Given the description of an element on the screen output the (x, y) to click on. 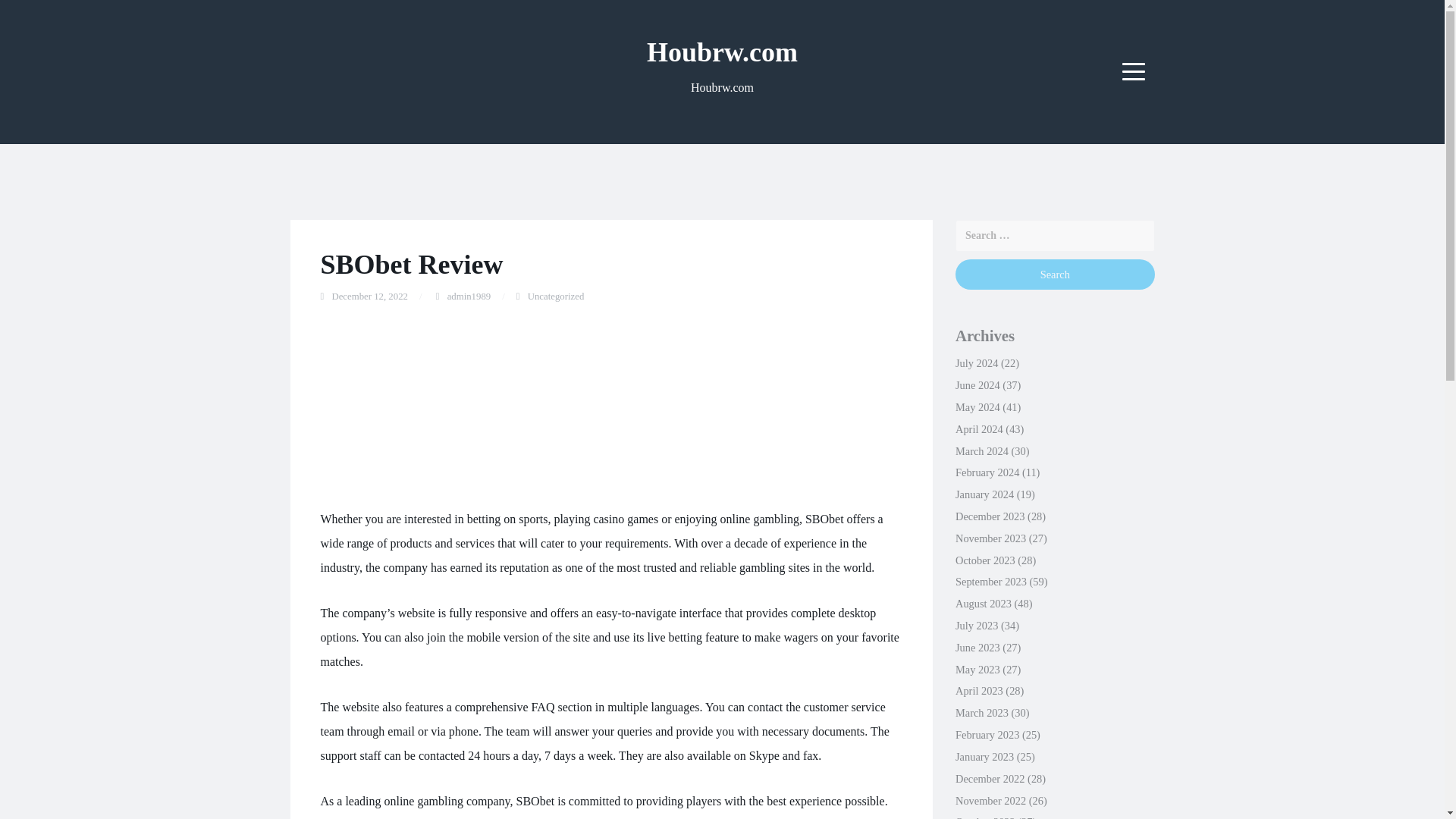
Uncategorized (556, 296)
Search (1054, 274)
September 2023 (990, 581)
July 2023 (976, 625)
November 2023 (990, 538)
October 2023 (984, 560)
January 2024 (984, 494)
Search (1054, 274)
July 2024 (976, 363)
May 2024 (977, 407)
October 2022 (984, 817)
Houbrw.com (721, 51)
March 2023 (982, 712)
June 2023 (977, 647)
March 2024 (982, 451)
